Given the description of an element on the screen output the (x, y) to click on. 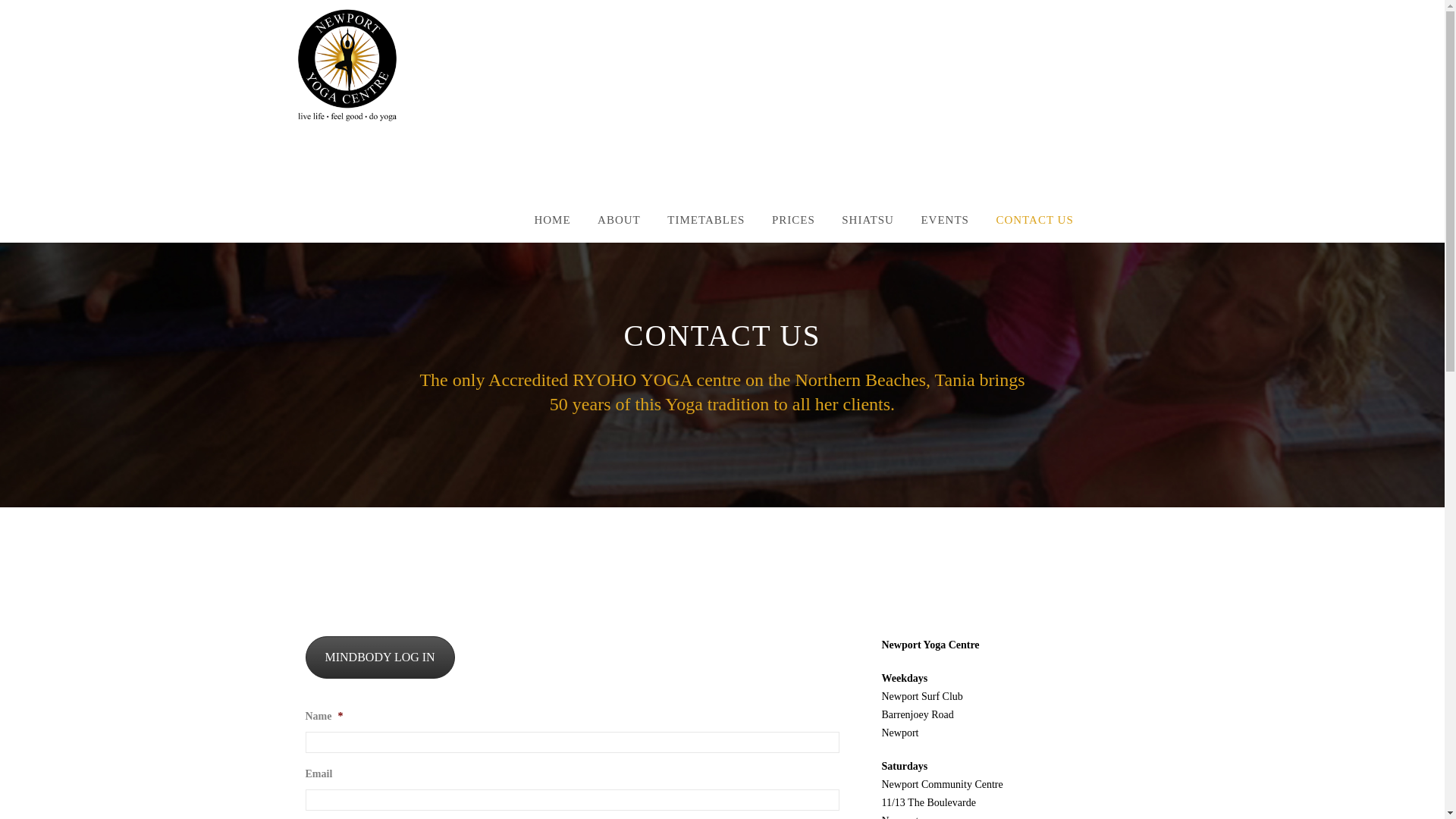
ABOUT Element type: text (618, 228)
HOME Element type: text (552, 228)
CONTACT US Element type: text (1033, 228)
TIMETABLES Element type: text (705, 228)
  Element type: text (1099, 226)
PRICES Element type: text (793, 228)
  Element type: text (1118, 226)
SHIATSU Element type: text (867, 228)
  Element type: text (1134, 226)
EVENTS Element type: text (944, 228)
MINDBODY LOG IN Element type: text (379, 657)
